Given the description of an element on the screen output the (x, y) to click on. 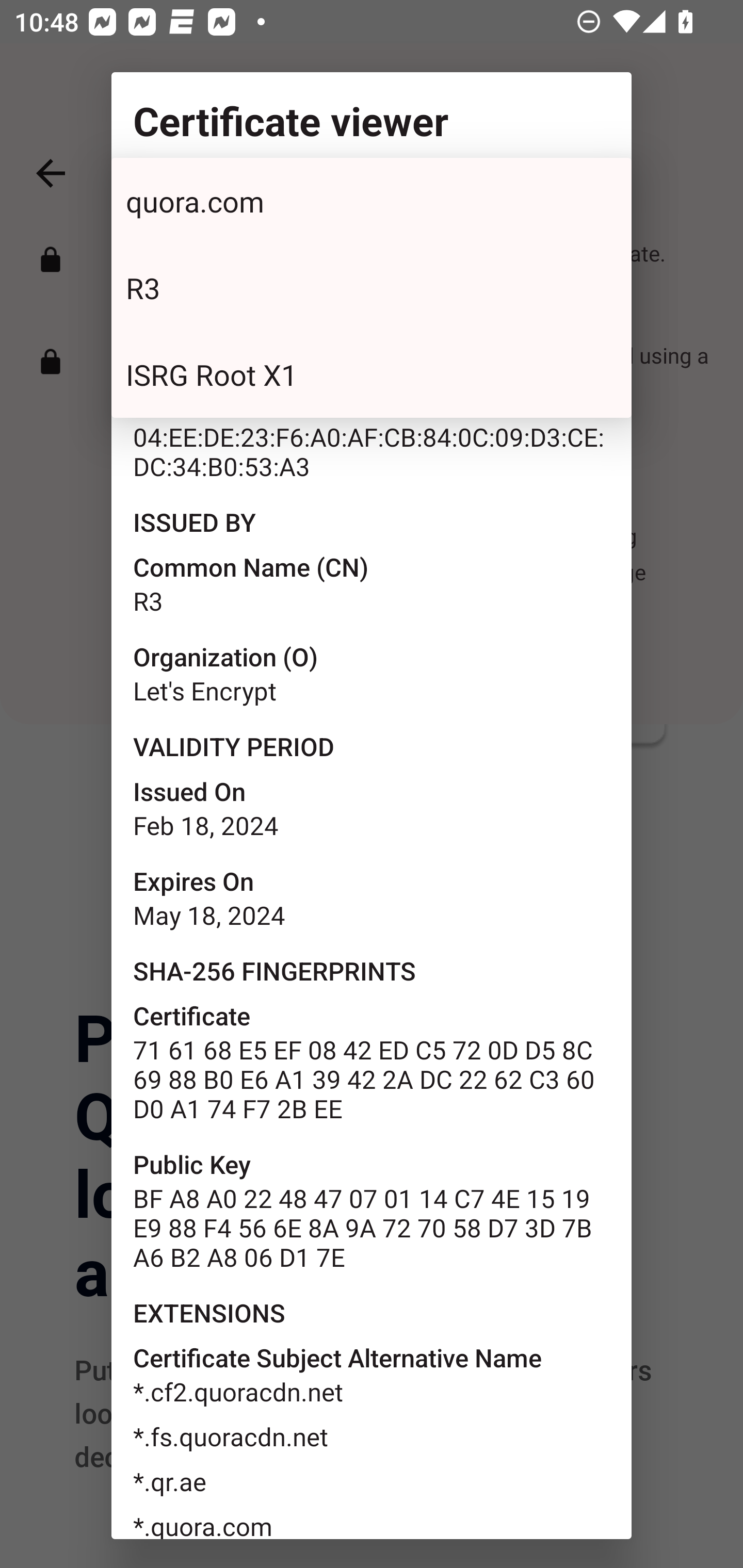
quora.com (371, 201)
R3 (371, 287)
ISRG Root X1 (371, 373)
